Given the description of an element on the screen output the (x, y) to click on. 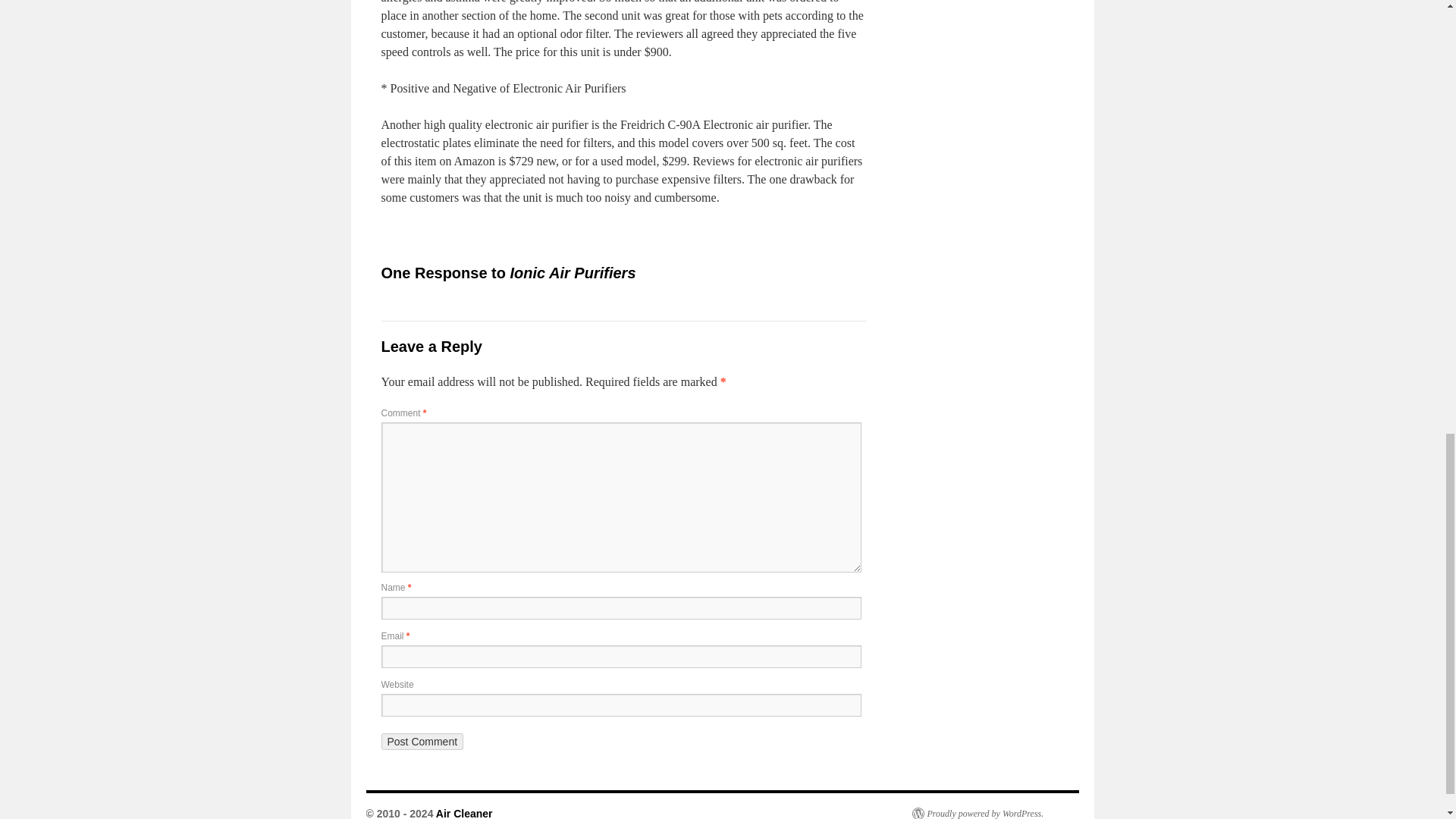
Post Comment (421, 741)
Post Comment (421, 741)
